Given the description of an element on the screen output the (x, y) to click on. 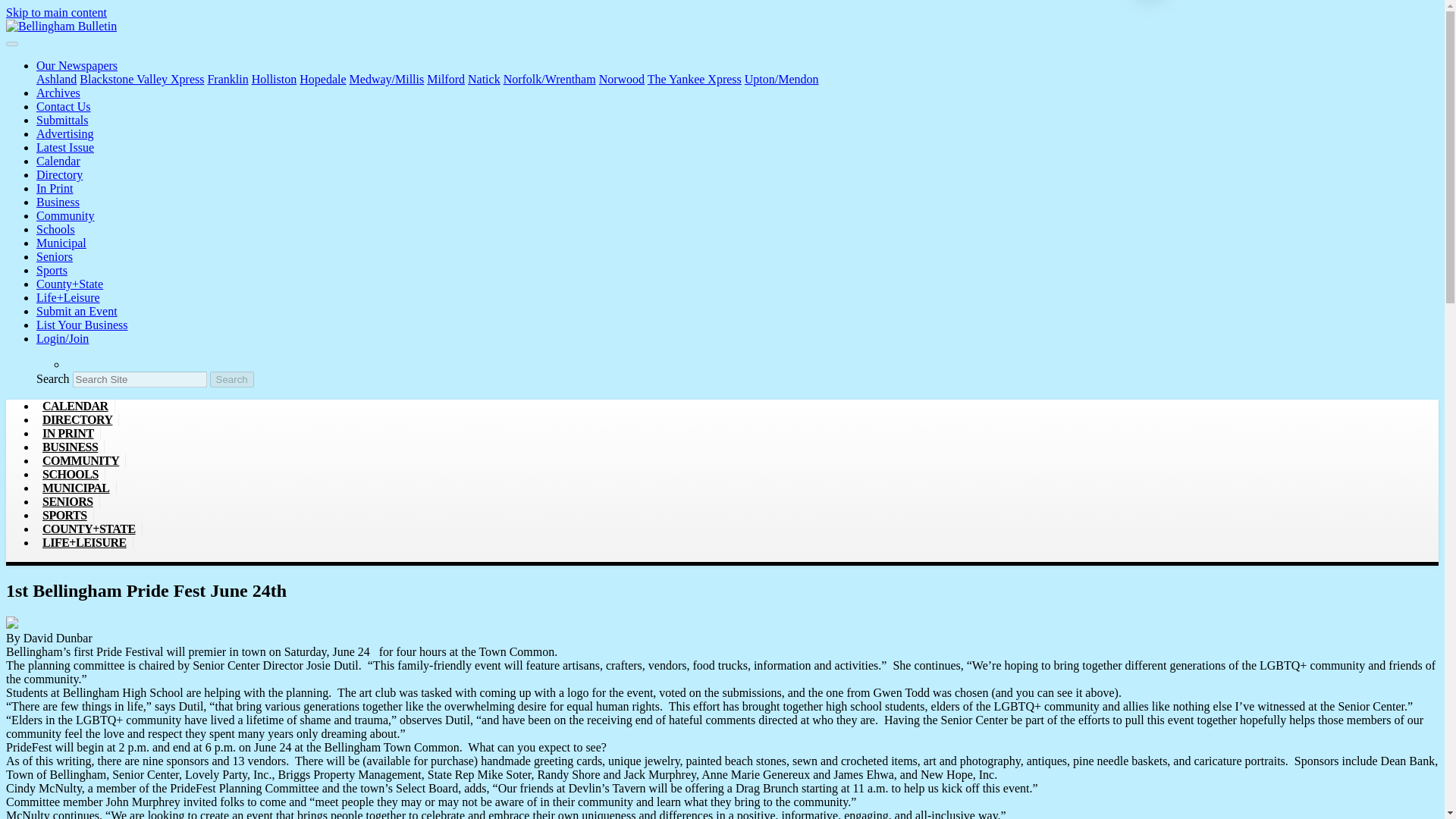
In Print (54, 187)
Hopedale (322, 78)
The Yankee Xpress (694, 78)
Natick (483, 78)
Our Newspapers (76, 65)
Schools (55, 228)
Sports (51, 269)
Municipal (60, 242)
Directory (59, 174)
Community (65, 215)
